Given the description of an element on the screen output the (x, y) to click on. 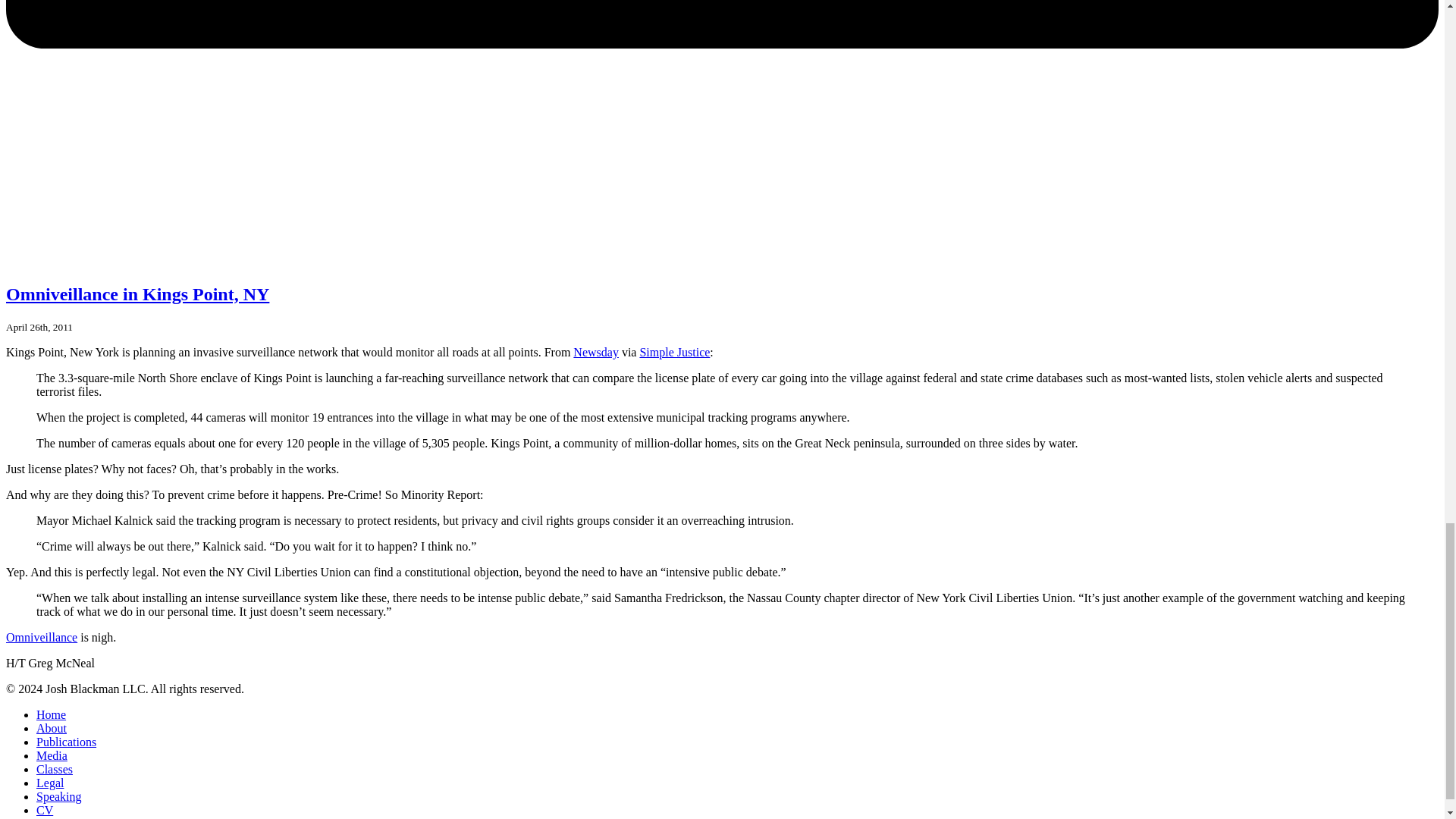
Legal (50, 782)
Simple Justice (674, 351)
Newsday (595, 351)
Publications (66, 741)
Omniveillance in Kings Point, NY (137, 293)
Home (50, 714)
Omniveillance (41, 636)
Speaking (58, 796)
Media (51, 755)
About (51, 727)
Classes (54, 768)
Permanent Link to Omniveillance in Kings Point, NY (137, 293)
CV (44, 809)
